Given the description of an element on the screen output the (x, y) to click on. 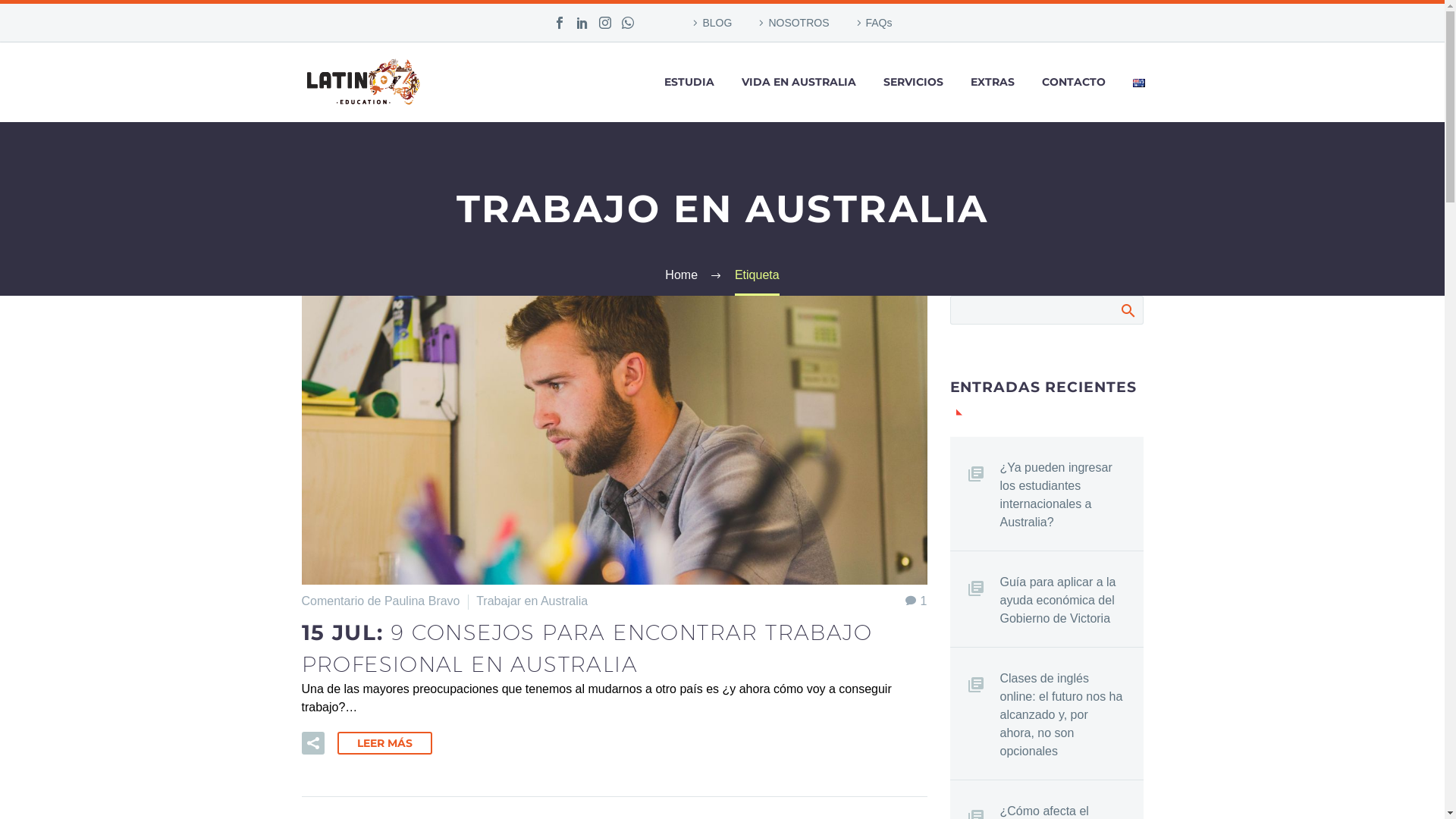
ESTUDIA Element type: text (688, 81)
BLOG Element type: text (709, 22)
EXTRAS Element type: text (991, 81)
VIDA EN AUSTRALIA Element type: text (797, 81)
Instagram Element type: hover (604, 22)
Home Element type: text (681, 274)
1 Element type: text (916, 600)
Facebook Element type: hover (559, 22)
LinkedIn Element type: hover (582, 22)
SERVICIOS Element type: text (913, 81)
Trabajar en Australia Element type: text (531, 600)
WhatsApp Element type: hover (627, 22)
NOSOTROS Element type: text (791, 22)
CONTACTO Element type: text (1072, 81)
FAQs Element type: text (872, 22)
BUSCAR Element type: text (1126, 309)
